Given the description of an element on the screen output the (x, y) to click on. 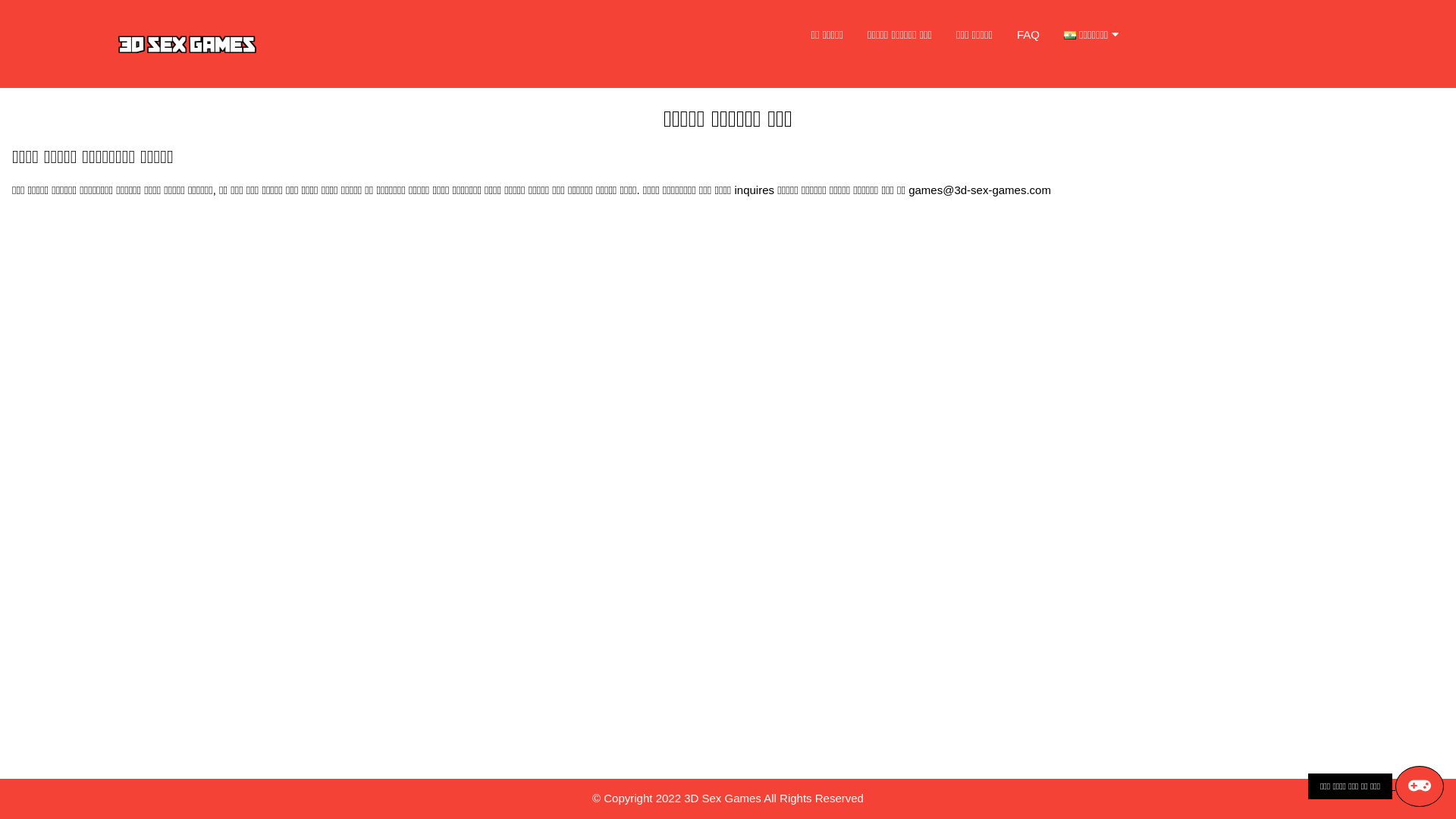
FAQ Element type: text (1027, 35)
